Given the description of an element on the screen output the (x, y) to click on. 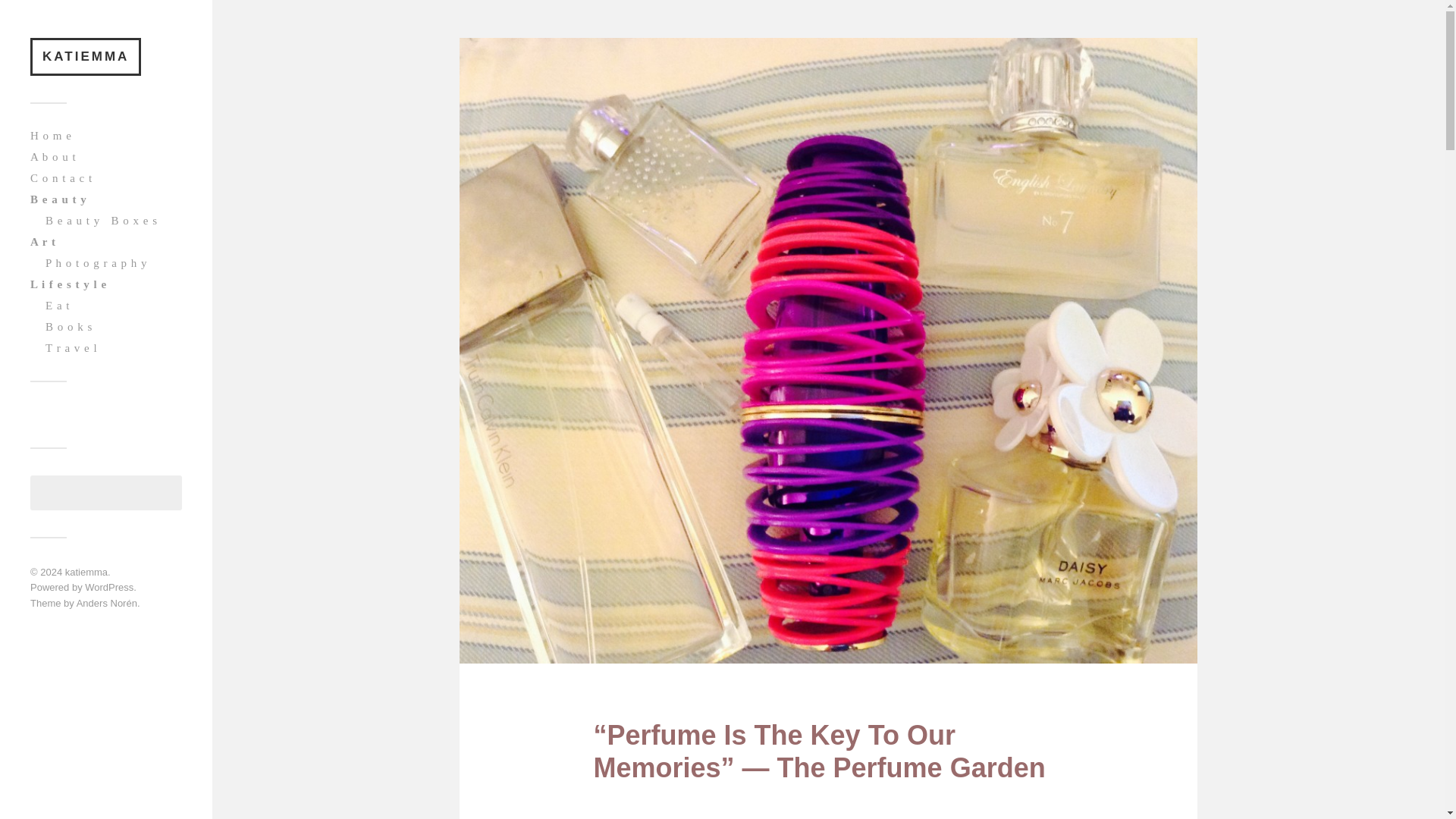
C o n t a c t (61, 177)
A r t (43, 241)
E a t (57, 304)
Search (163, 492)
B o o k s (69, 326)
B e a u t y   B o x e s (101, 219)
H o m e (50, 134)
KATIEMMA (85, 56)
WordPress (108, 586)
P h o t o g r a p h y (96, 262)
